Given the description of an element on the screen output the (x, y) to click on. 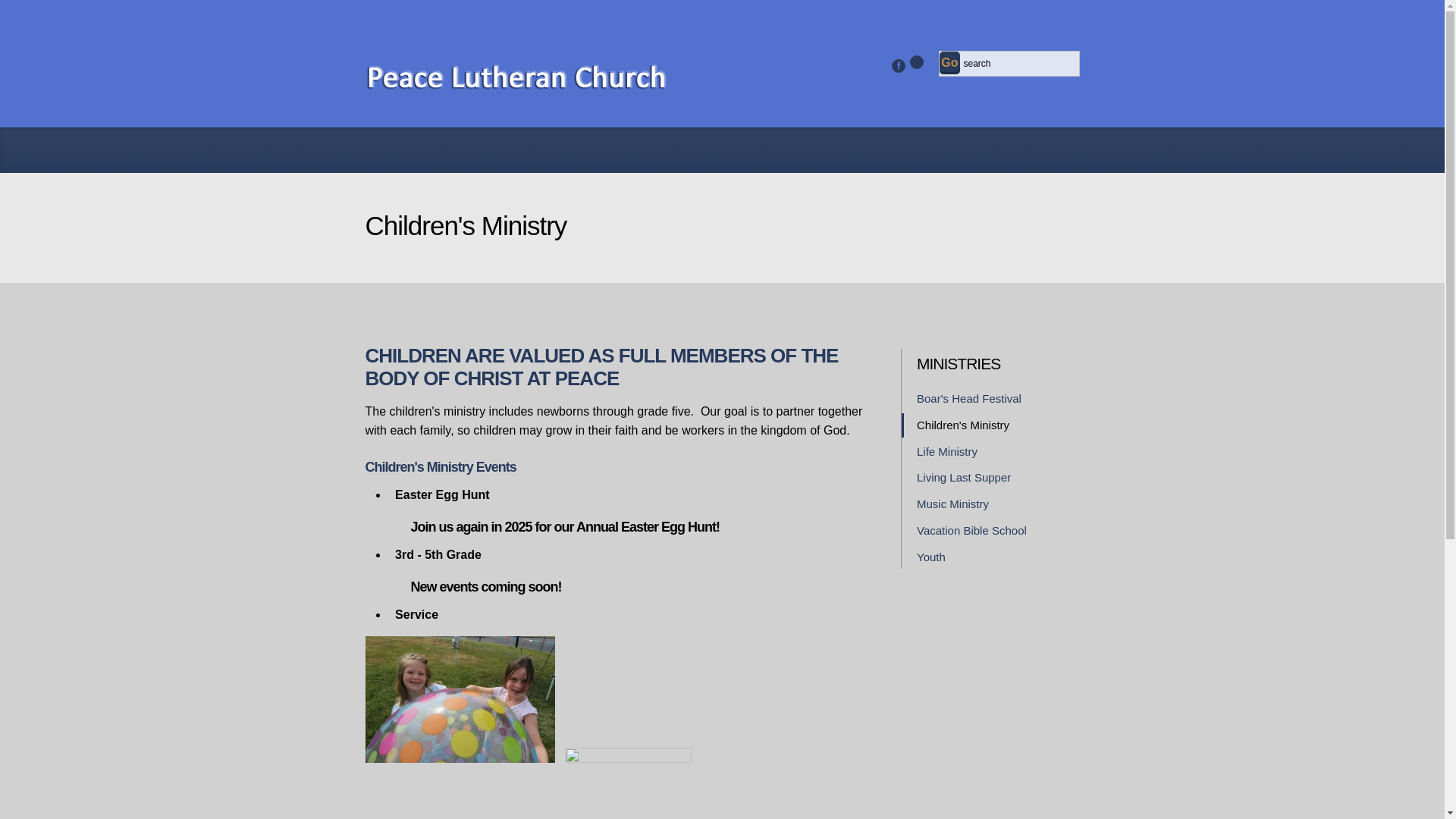
Facebook (898, 65)
search (1019, 63)
YouTube (916, 61)
